Given the description of an element on the screen output the (x, y) to click on. 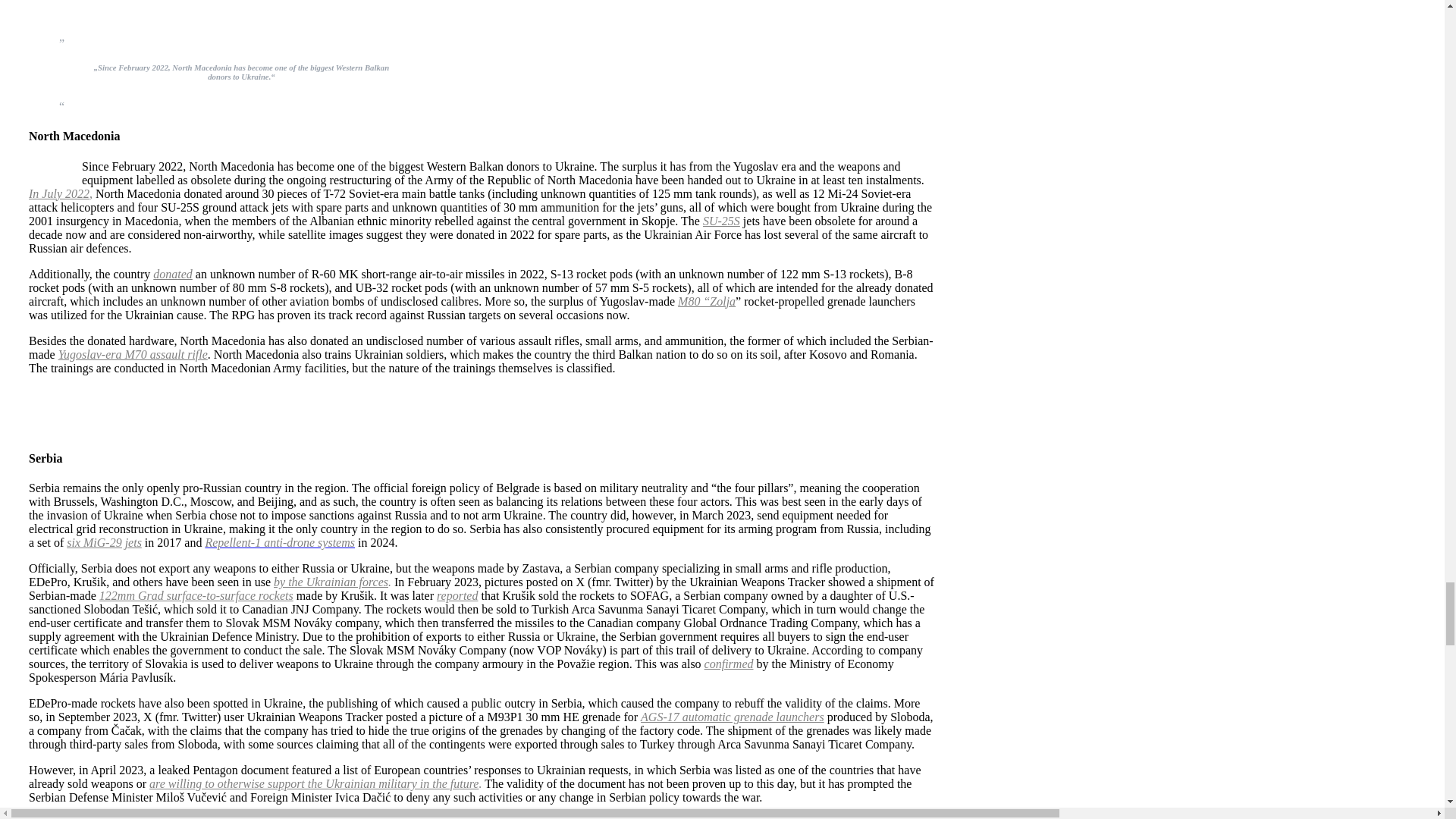
six MiG-29 jets (103, 542)
donated (172, 273)
In July 2022 (58, 193)
SU-25S (721, 220)
Yugoslav-era M70 assault rifle (133, 354)
Repellent-1 anti-drone systems (280, 542)
